Given the description of an element on the screen output the (x, y) to click on. 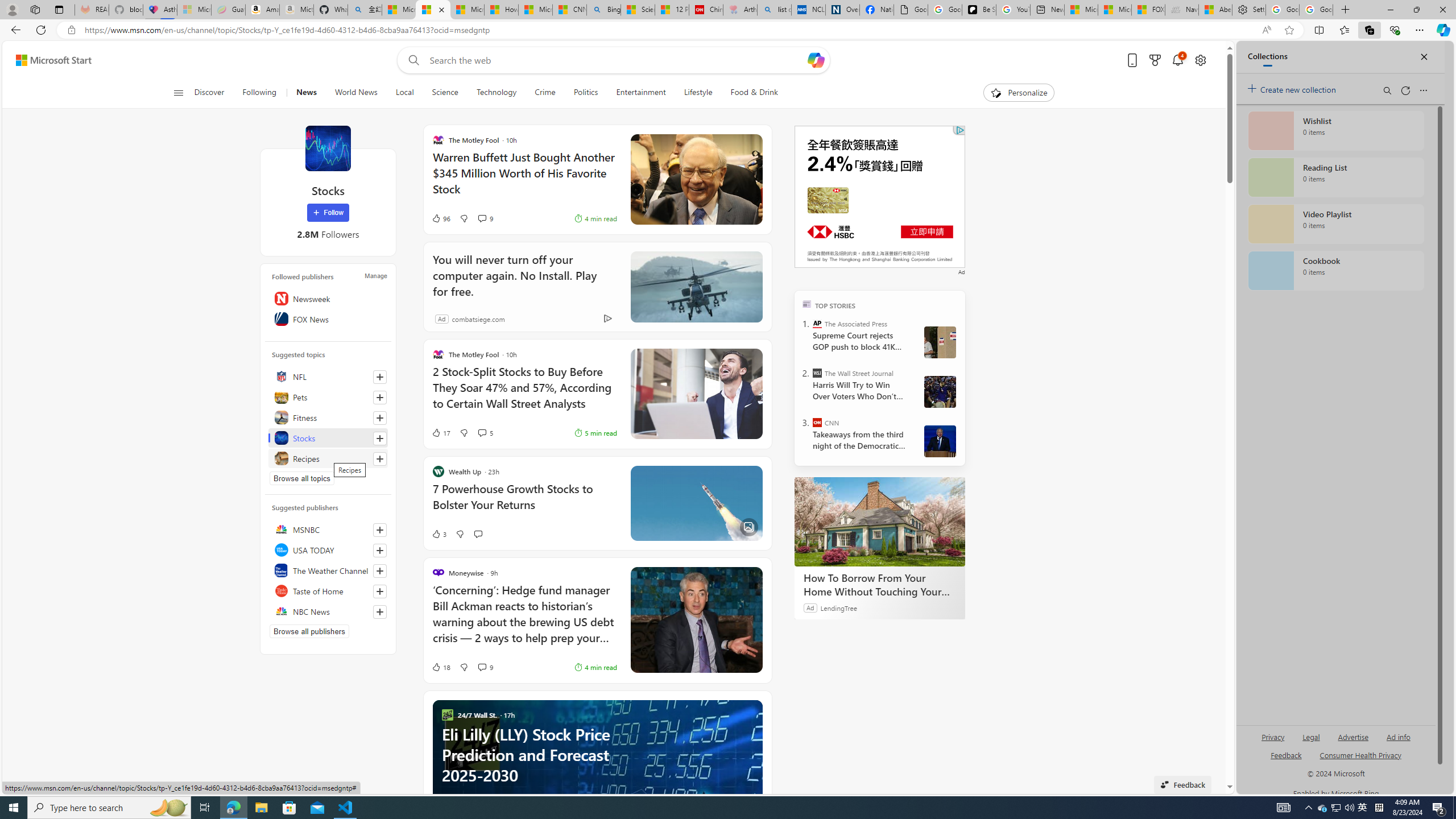
The Weather Channel (327, 570)
Bing (604, 9)
View comments 9 Comment (485, 667)
